Given the description of an element on the screen output the (x, y) to click on. 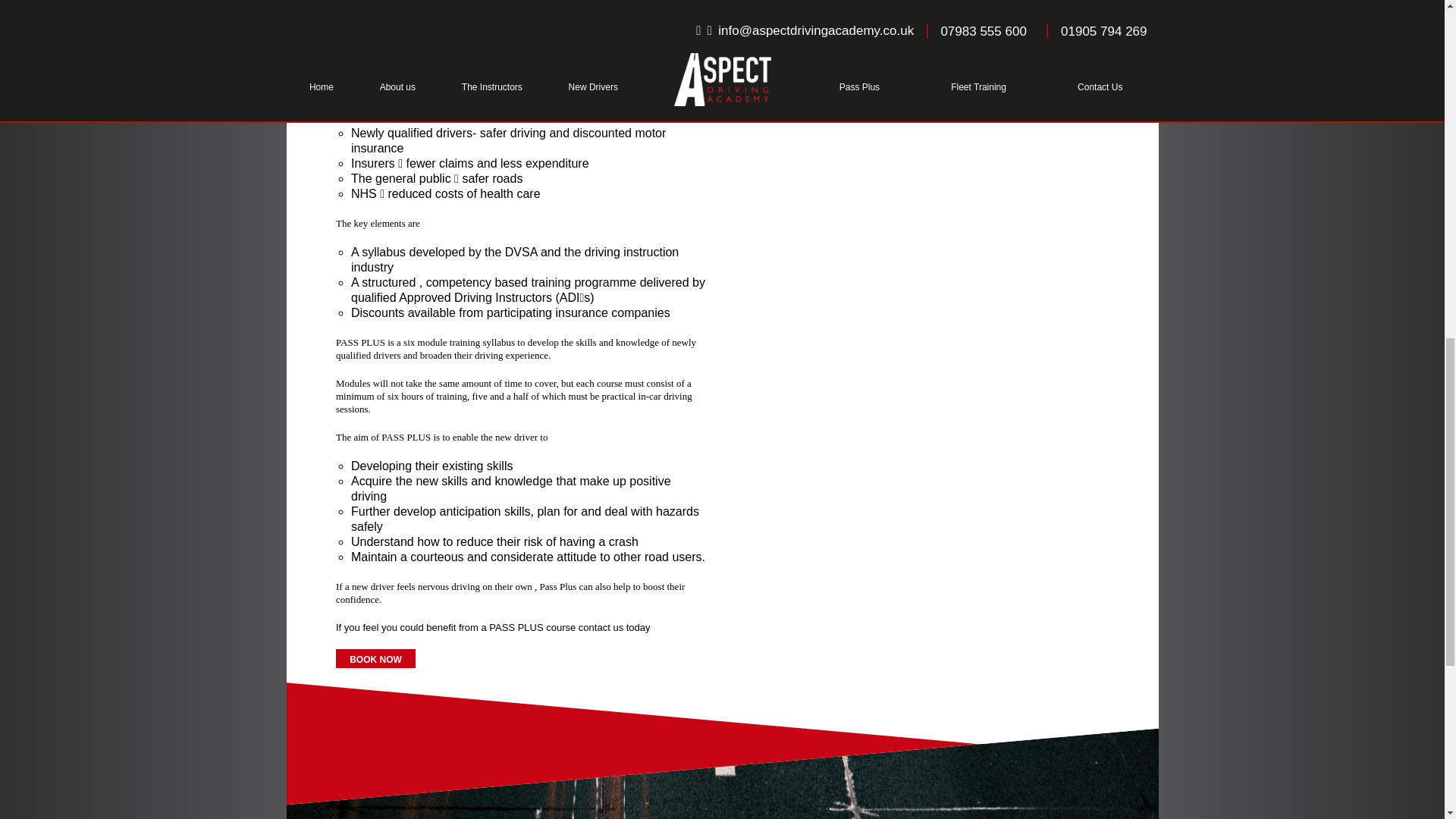
BOOK NOW (520, 658)
